Given the description of an element on the screen output the (x, y) to click on. 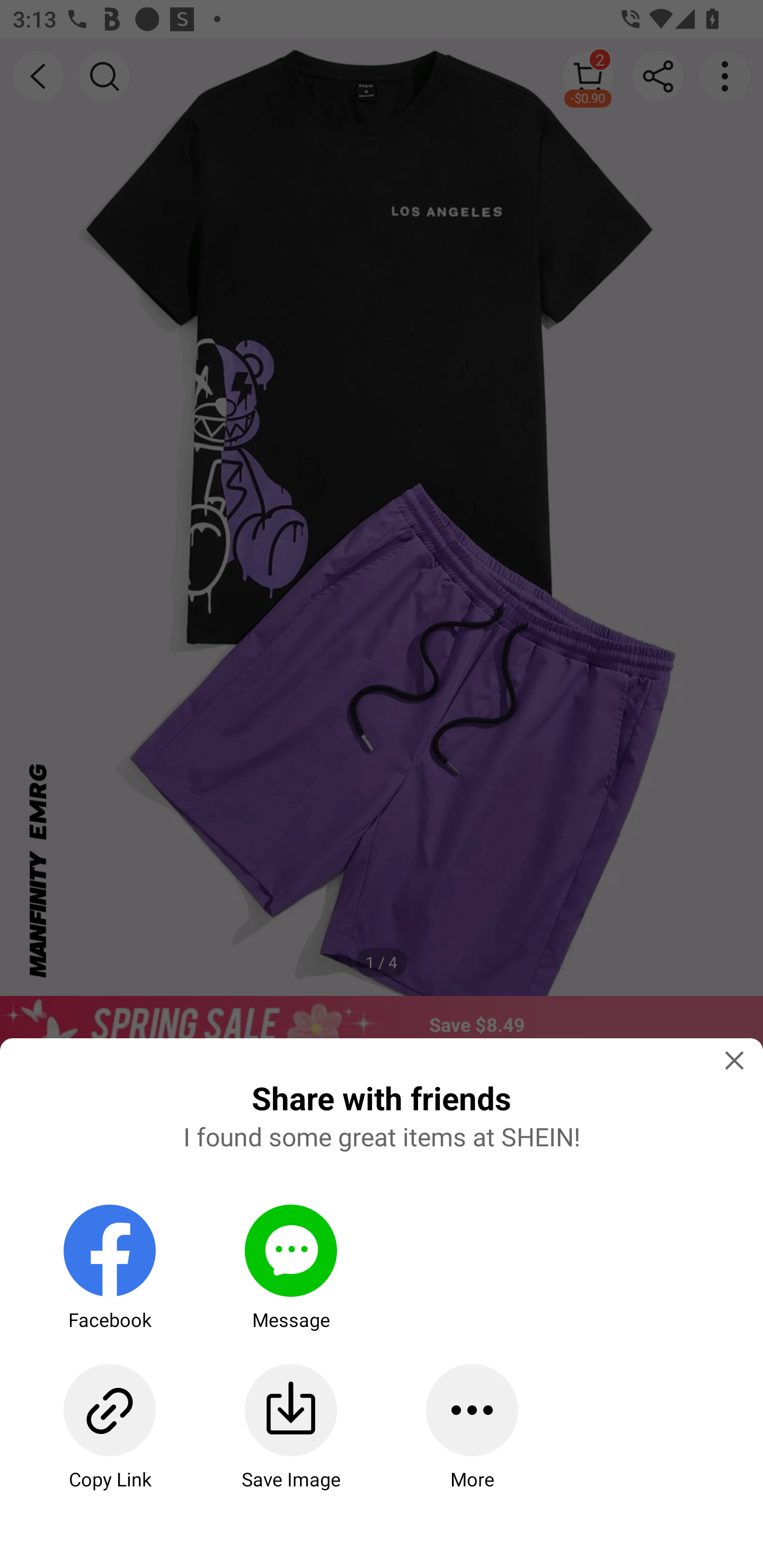
Facebook (109, 1268)
Message (290, 1268)
Copy Link (109, 1427)
Save Image (290, 1427)
More (472, 1427)
